Given the description of an element on the screen output the (x, y) to click on. 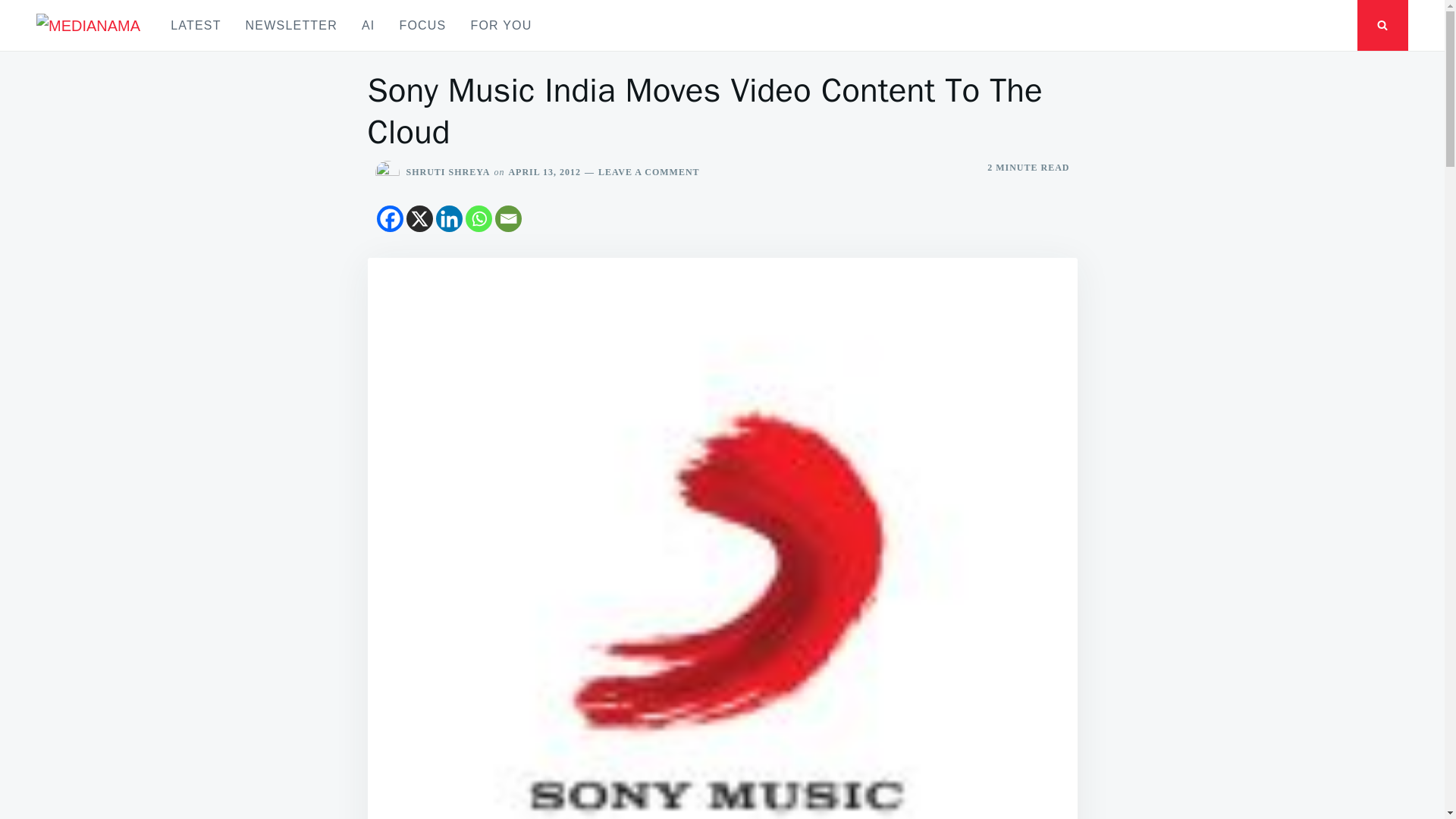
SHRUTI SHREYA (448, 172)
APRIL 13, 2012 (544, 172)
Whatsapp (478, 218)
Facebook (389, 218)
FOCUS (422, 25)
Linkedin (448, 218)
MEDIANAMA (95, 48)
Email (508, 218)
LATEST (195, 25)
